Given the description of an element on the screen output the (x, y) to click on. 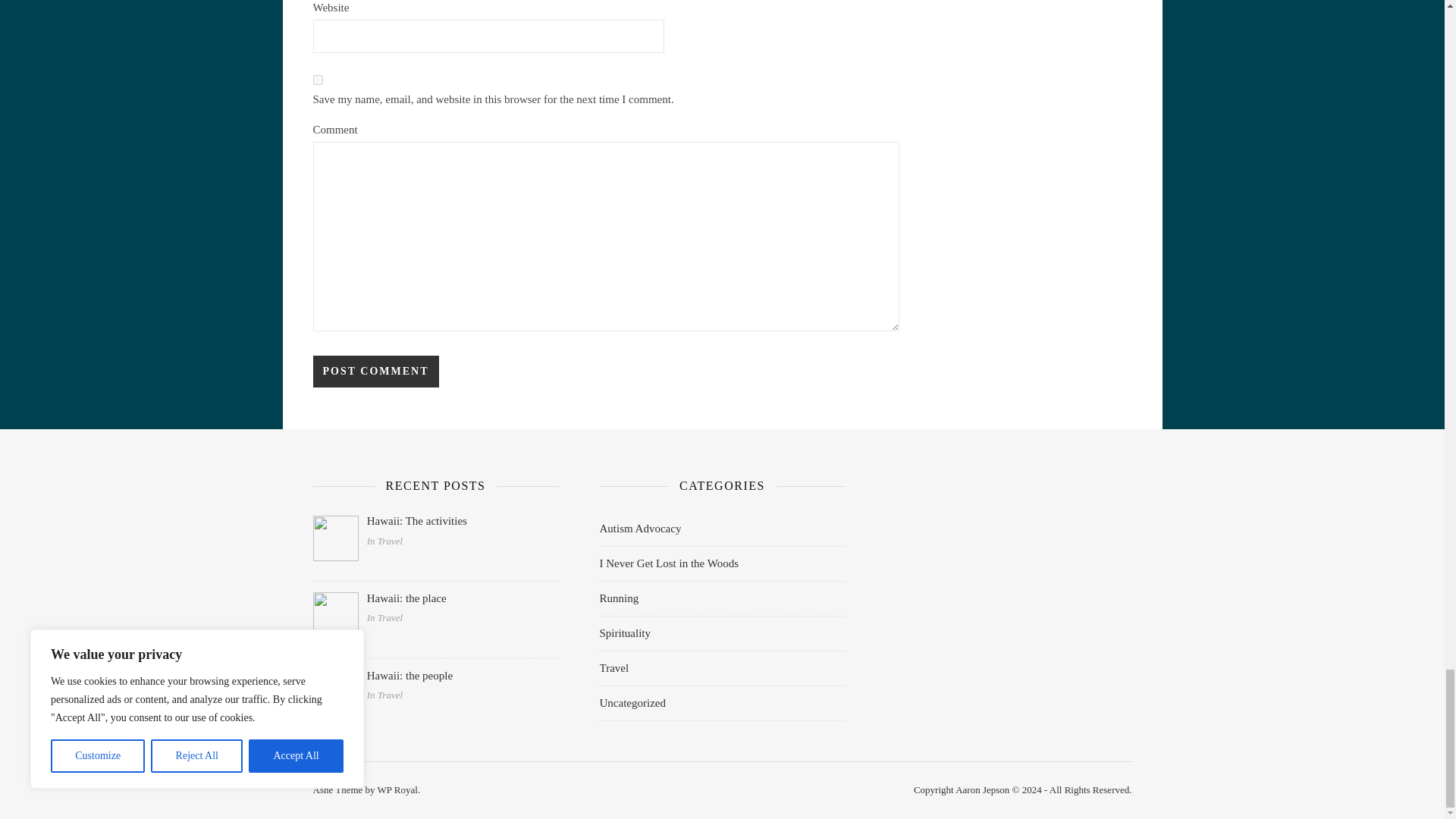
yes (317, 80)
Post Comment (375, 371)
